Given the description of an element on the screen output the (x, y) to click on. 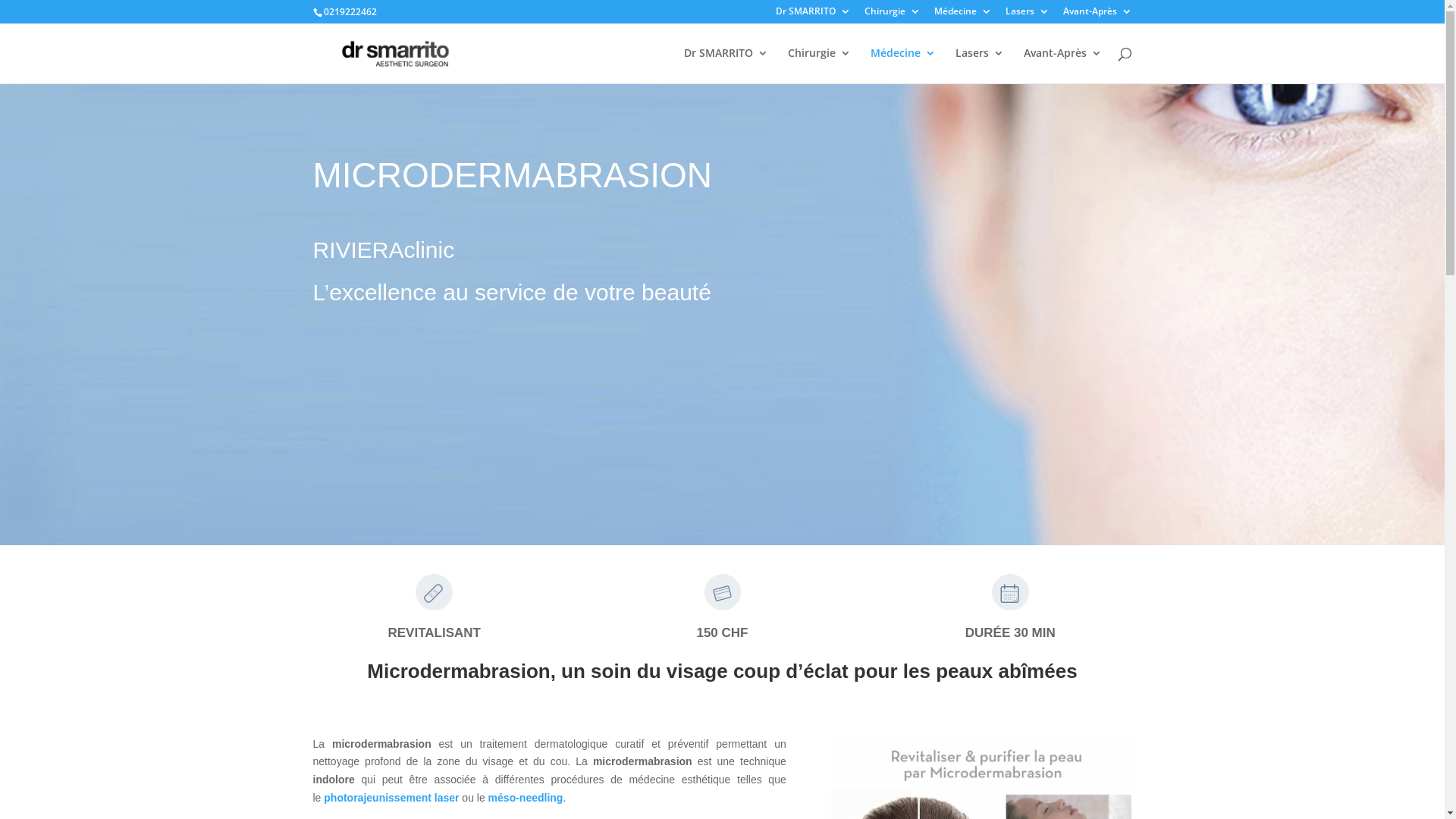
Chirurgie Element type: text (818, 65)
Chirurgie Element type: text (892, 14)
Dr SMARRITO Element type: text (726, 65)
Dr SMARRITO Element type: text (812, 14)
photorajeunissement laser Element type: text (390, 797)
Lasers Element type: text (1027, 14)
Lasers Element type: text (979, 65)
